Given the description of an element on the screen output the (x, y) to click on. 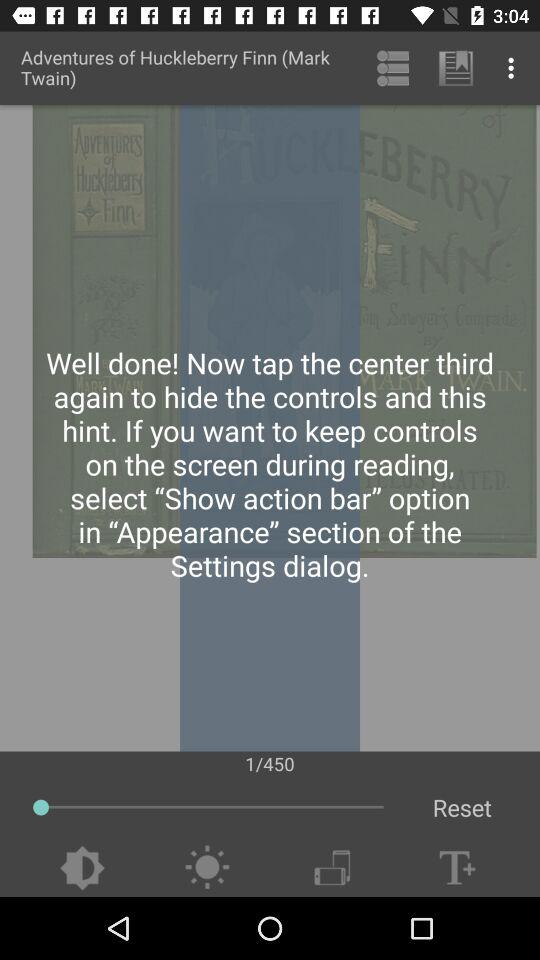
brightness controller (206, 867)
